Given the description of an element on the screen output the (x, y) to click on. 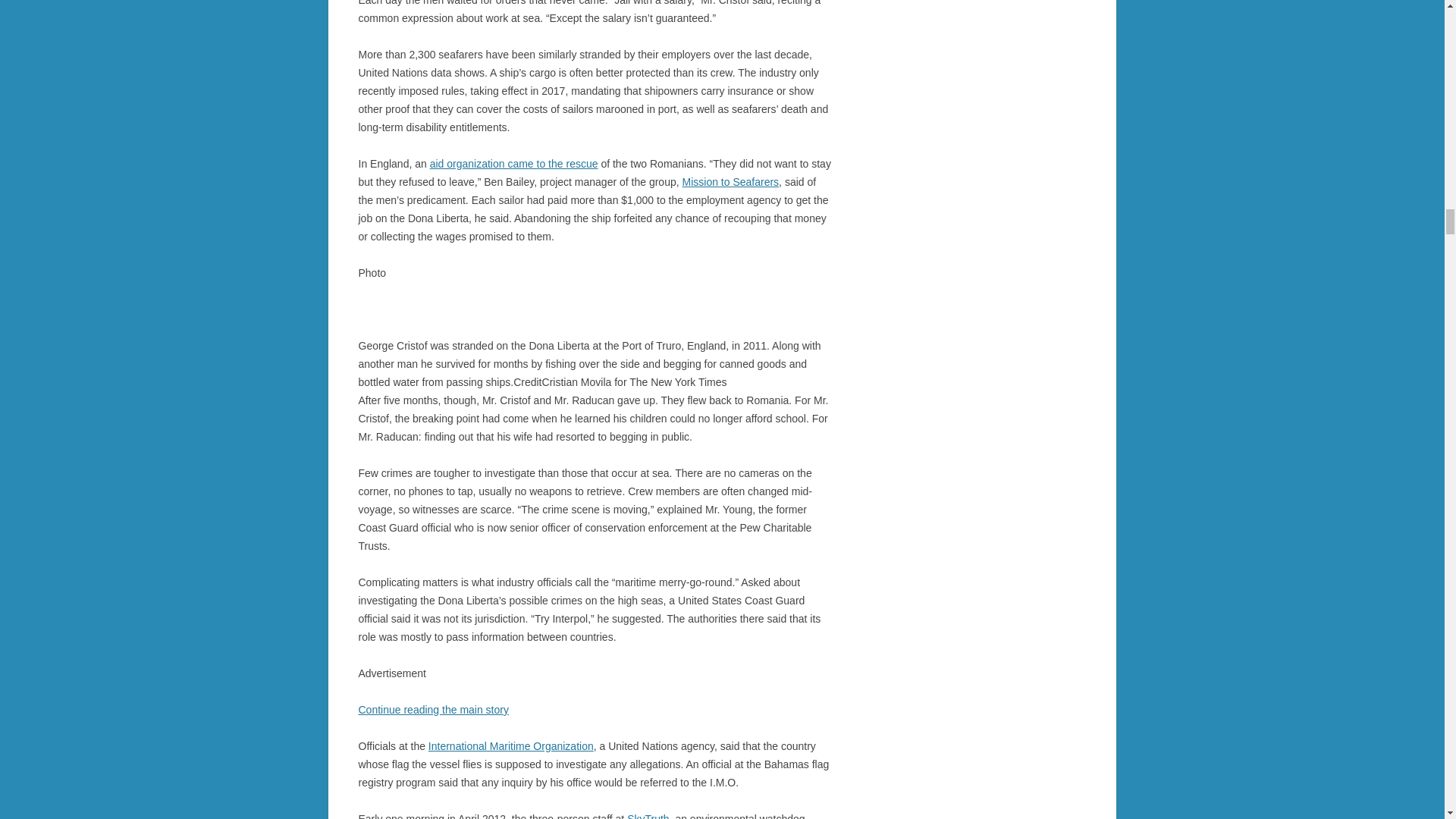
SkyTruth (648, 816)
International Maritime Organization (511, 746)
Continue reading the main story (433, 709)
Mission to Seafarers (730, 182)
Mission to Seafarers report (513, 163)
aid organization came to the rescue (513, 163)
I.M.O. website (511, 746)
